Given the description of an element on the screen output the (x, y) to click on. 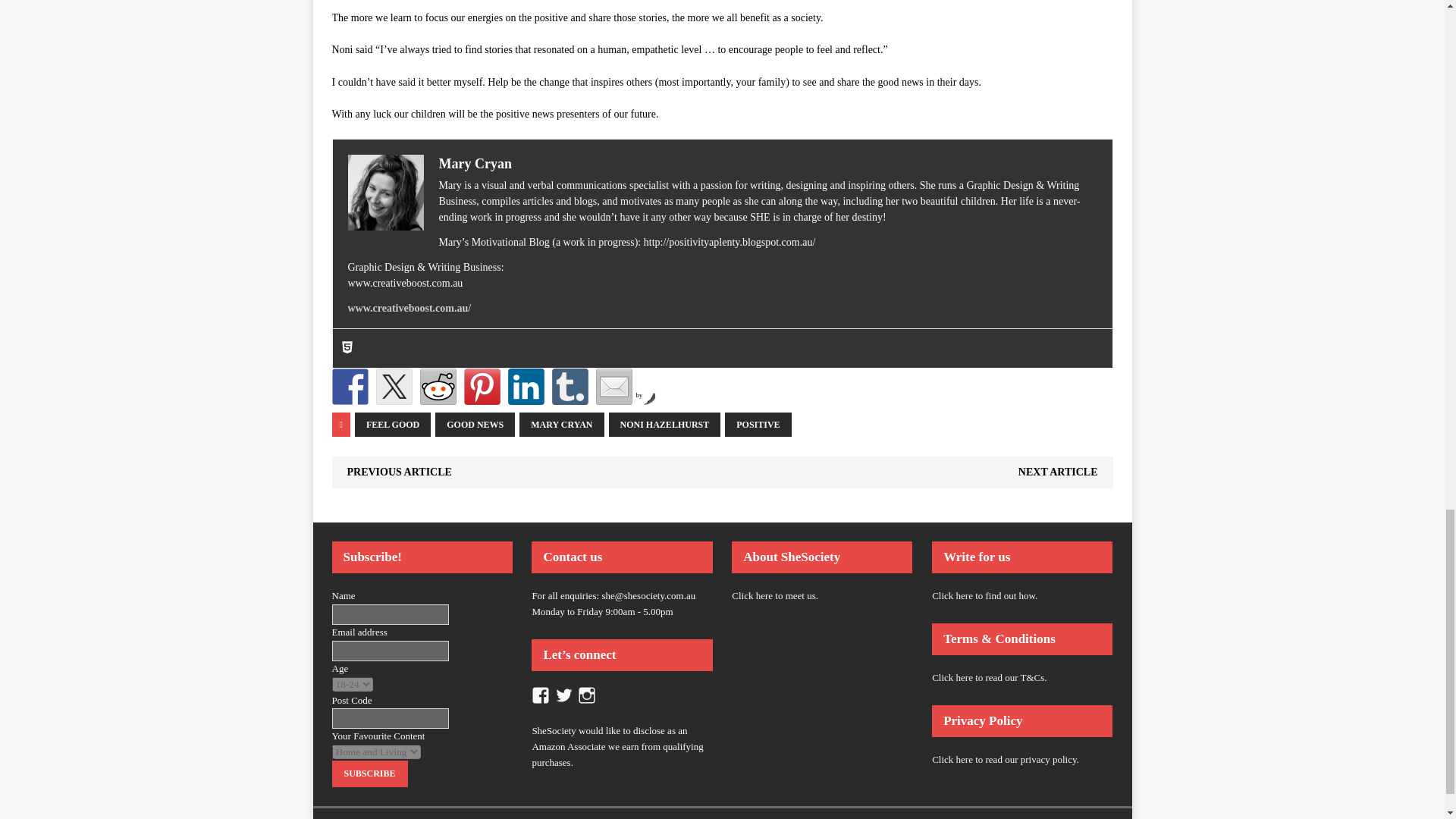
Share on Linkedin (526, 386)
Share on Reddit (438, 386)
Mary Cryan (474, 163)
Share on tumblr (569, 386)
Share on Twitter (393, 386)
Subscribe (369, 773)
Pin it with Pinterest (482, 386)
by (644, 395)
Share on Facebook (349, 386)
Share by email (613, 386)
